Given the description of an element on the screen output the (x, y) to click on. 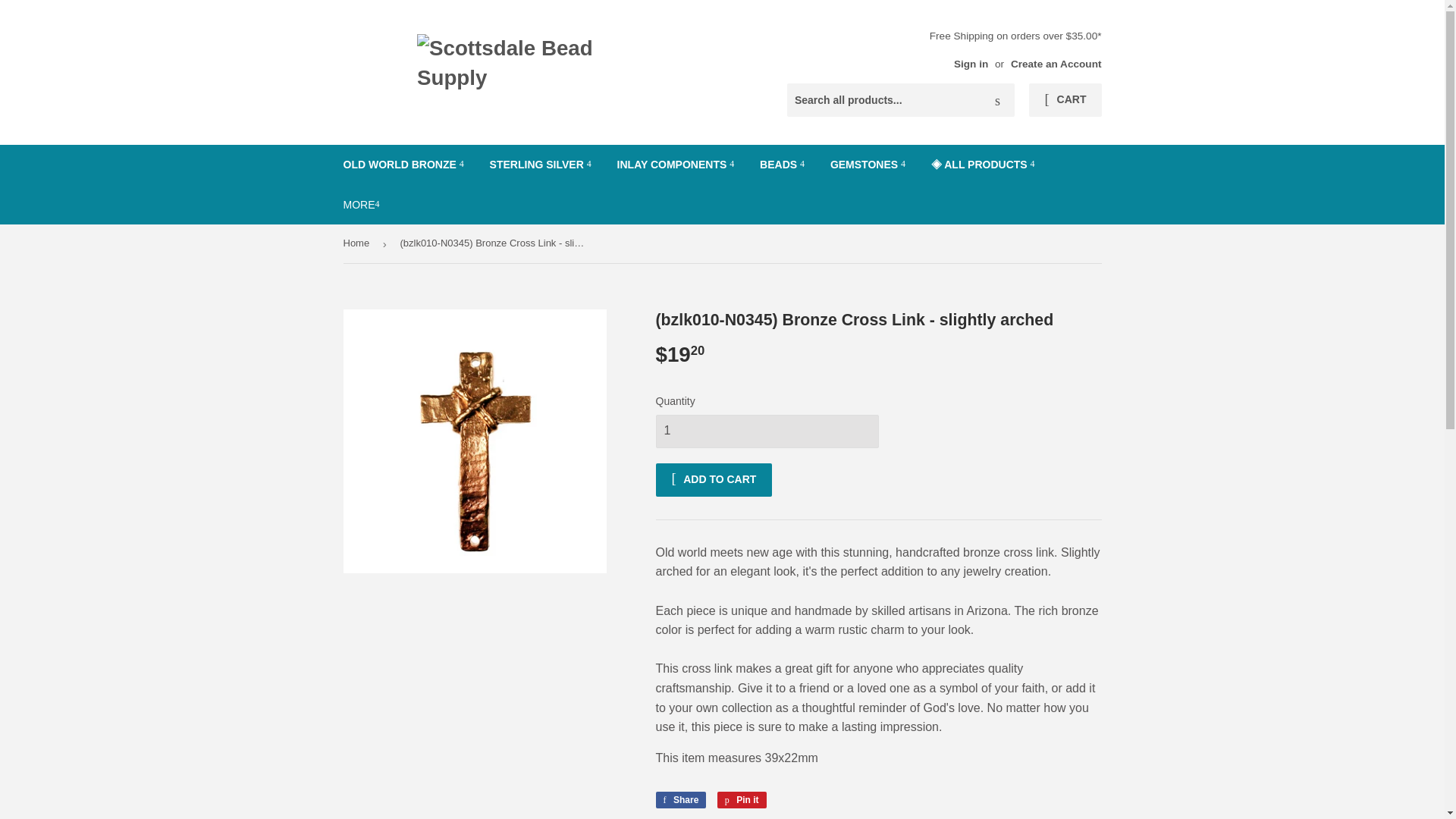
1 (766, 430)
Pin on Pinterest (742, 799)
CART (1064, 100)
Search (996, 101)
Share on Facebook (680, 799)
Sign in (970, 63)
Create an Account (1056, 63)
